Given the description of an element on the screen output the (x, y) to click on. 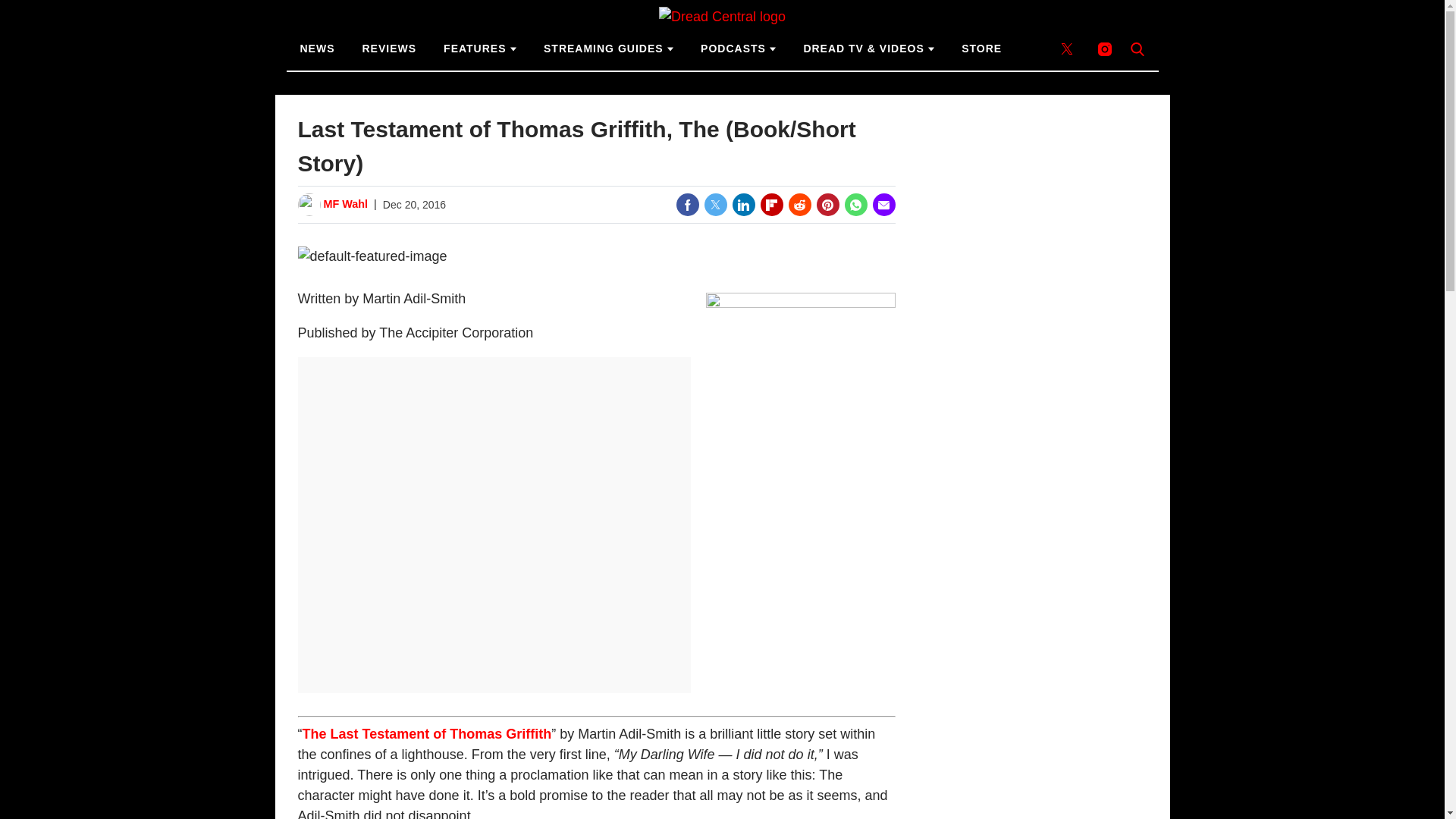
Share on LinkedIn (743, 204)
REVIEWS (389, 48)
STORE (980, 48)
Share on Pinterest (826, 204)
MF Wahl (345, 204)
Share on Twitter (714, 204)
Share on Reddit (799, 204)
FEATURES (479, 48)
Share on Flipboard (771, 204)
NEWS (317, 48)
